Given the description of an element on the screen output the (x, y) to click on. 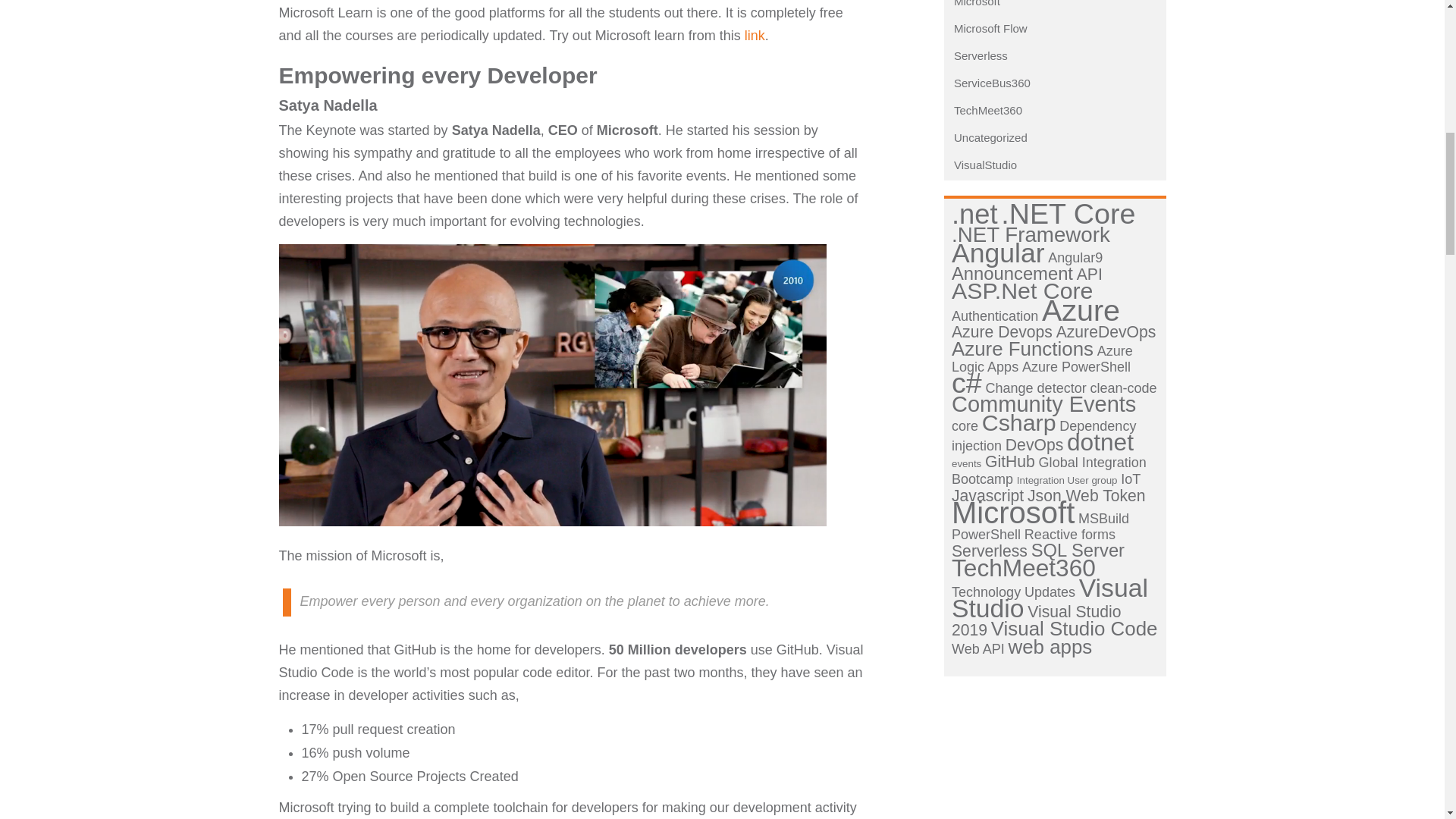
Serverless (976, 55)
link (754, 35)
Microsoft (973, 3)
ServiceBus360 (988, 82)
Microsoft Flow (986, 28)
